Given the description of an element on the screen output the (x, y) to click on. 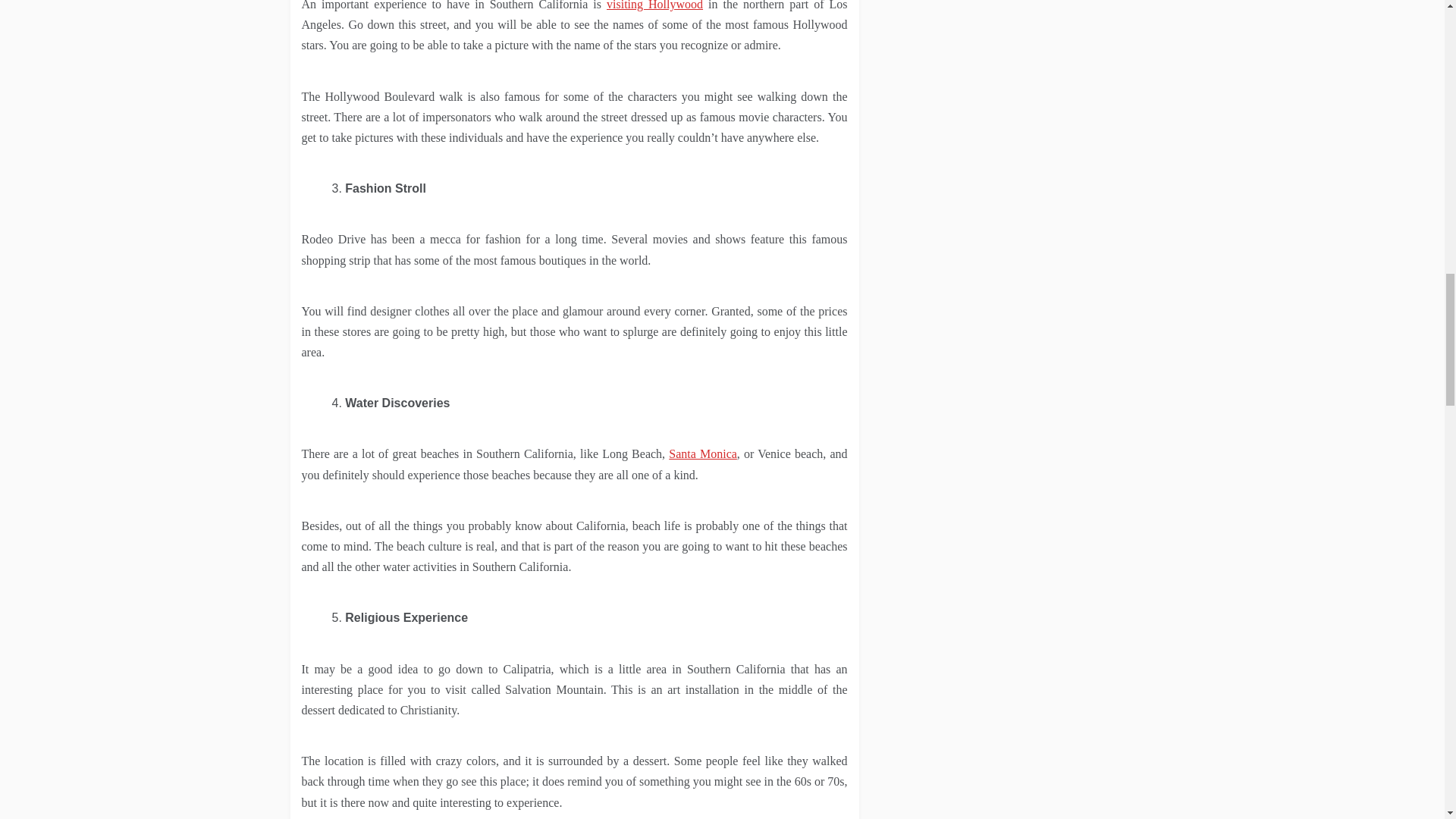
Santa Monica (702, 453)
visiting Hollywood (655, 5)
